Given the description of an element on the screen output the (x, y) to click on. 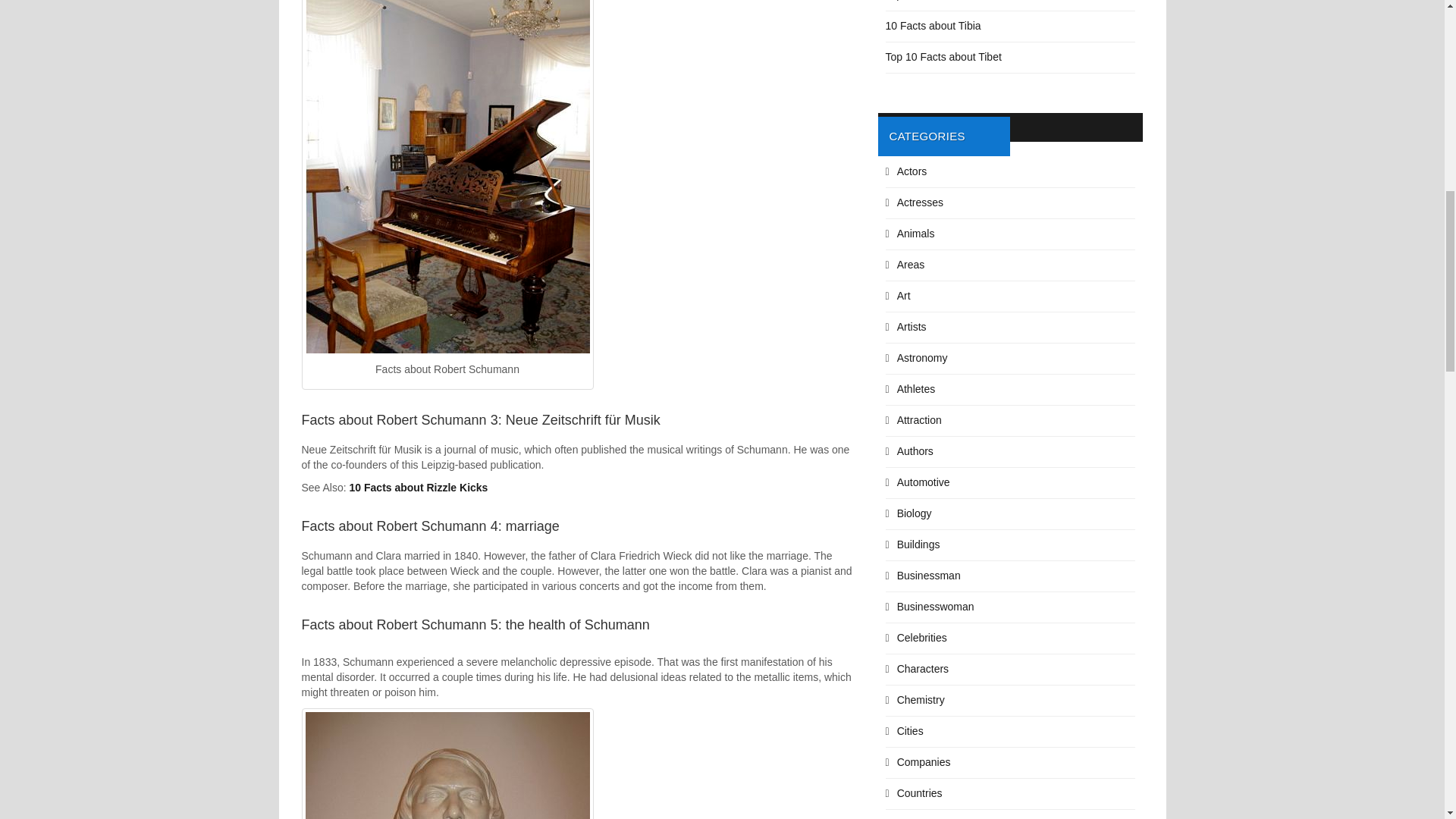
10 Facts about Rizzle Kicks (418, 487)
